Given the description of an element on the screen output the (x, y) to click on. 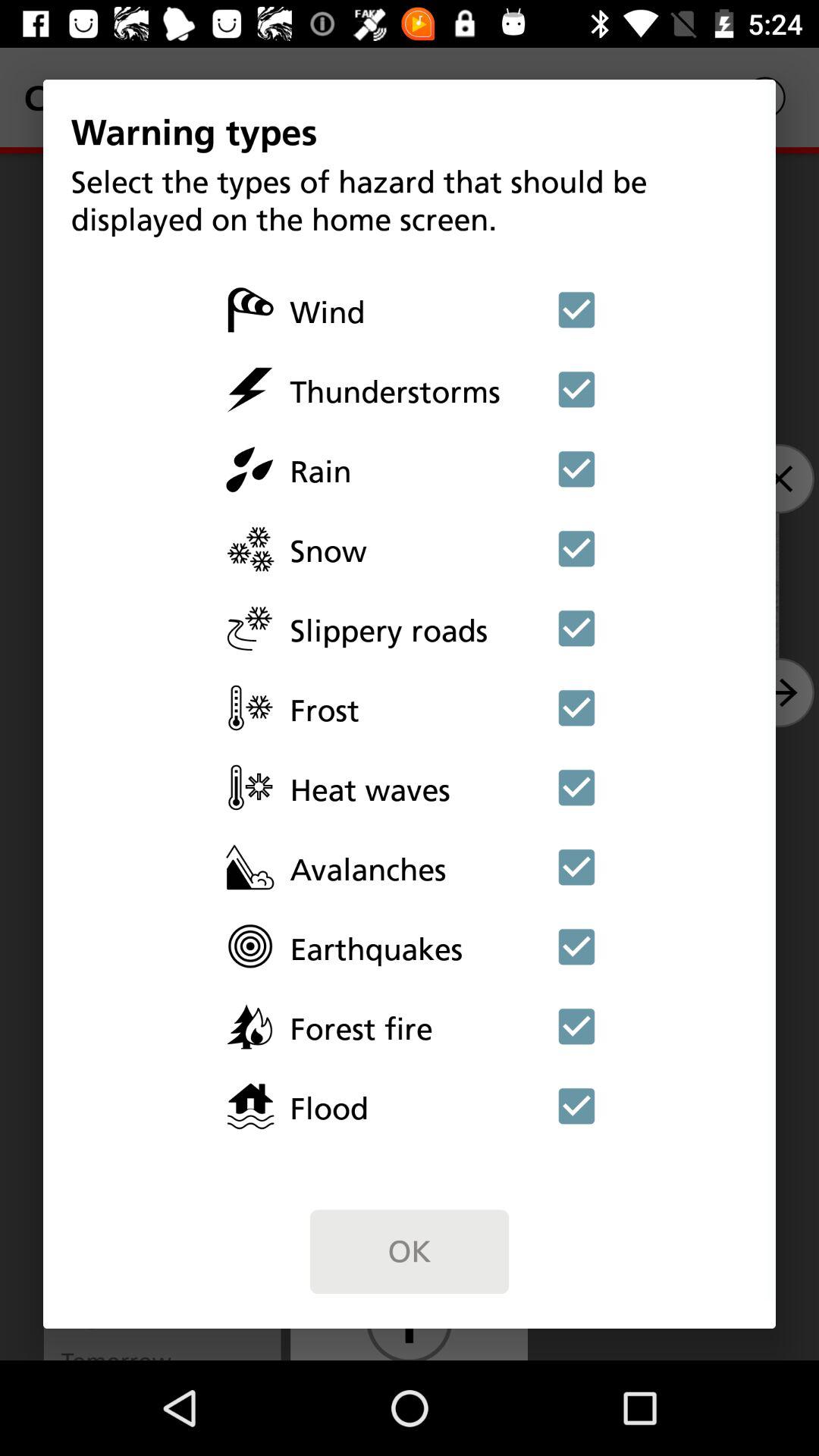
meteoswiss (576, 867)
